Given the description of an element on the screen output the (x, y) to click on. 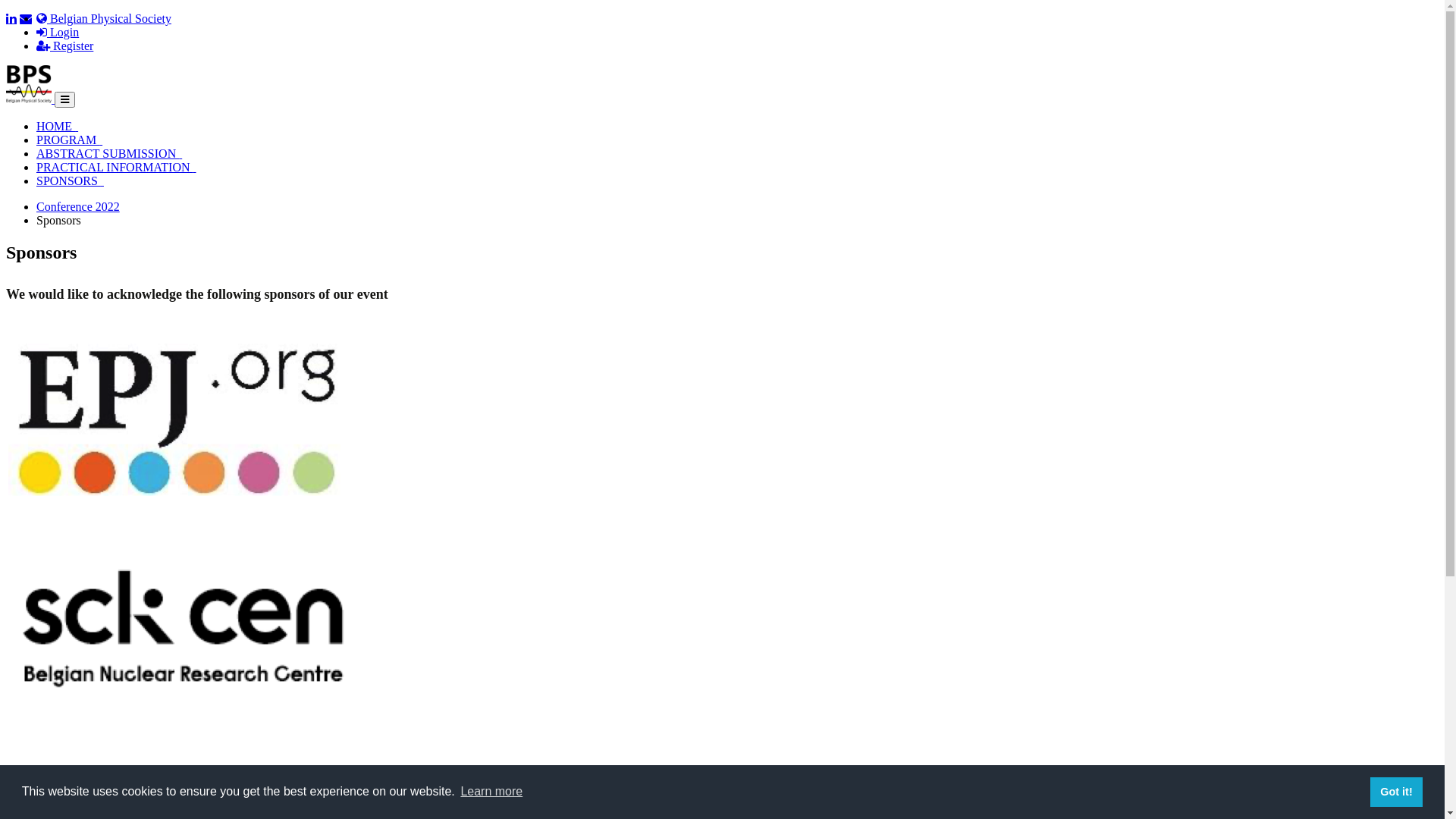
Login Element type: text (57, 31)
Belgian Physical Society Element type: text (103, 18)
Learn more Element type: text (491, 791)
ABSTRACT SUBMISSION   Element type: text (109, 153)
Register Element type: text (64, 45)
PROGRAM   Element type: text (69, 139)
Got it! Element type: text (1396, 791)
PRACTICAL INFORMATION   Element type: text (116, 166)
Conference 2022 Element type: text (77, 206)
HOME   Element type: text (57, 125)
SPONSORS   Element type: text (69, 180)
